Given the description of an element on the screen output the (x, y) to click on. 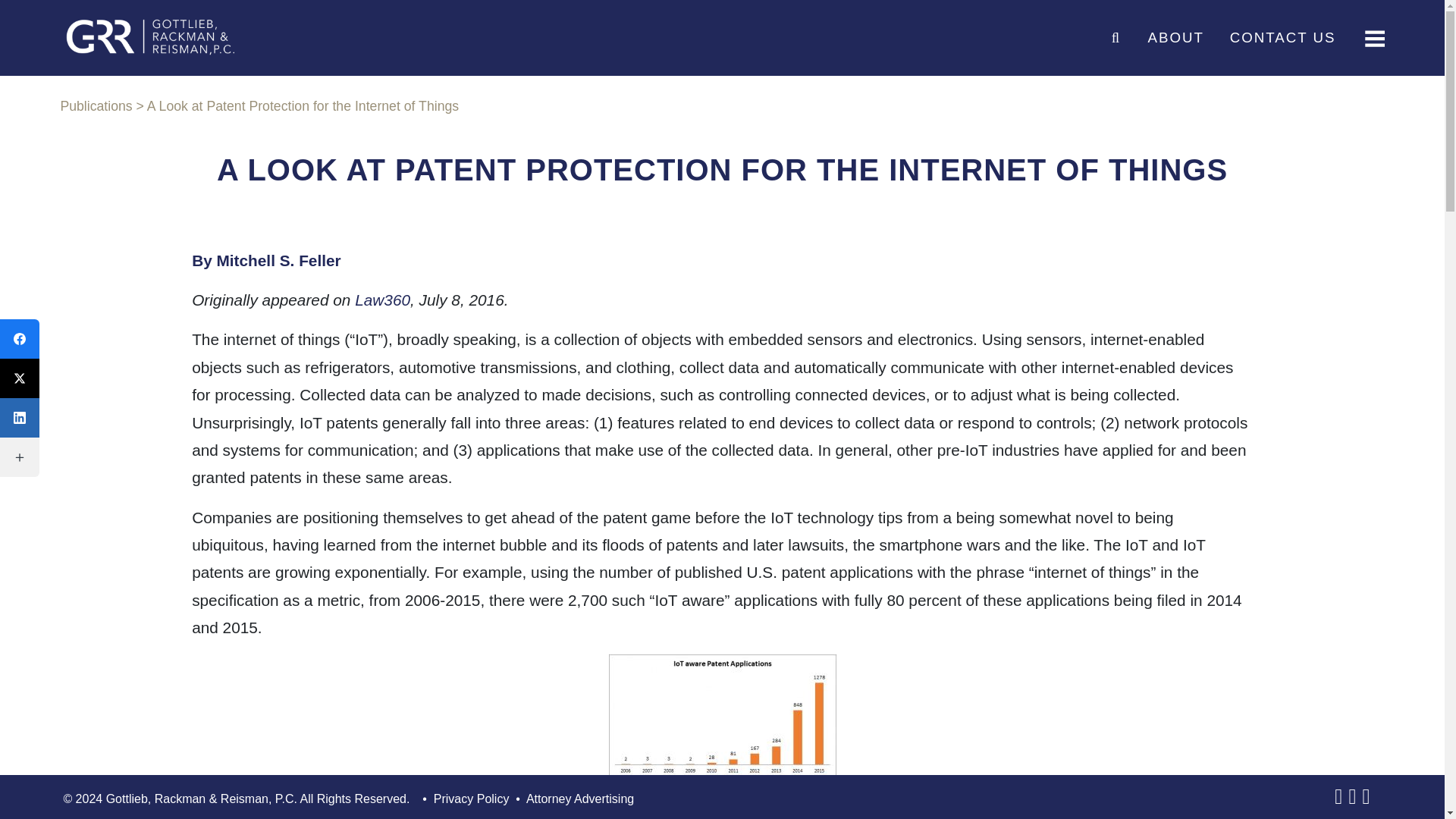
Law360 (382, 299)
ABOUT (1175, 37)
Publications (95, 105)
Mitchell S. Feller (278, 260)
CONTACT US (1283, 37)
Privacy Policy (471, 801)
